Given the description of an element on the screen output the (x, y) to click on. 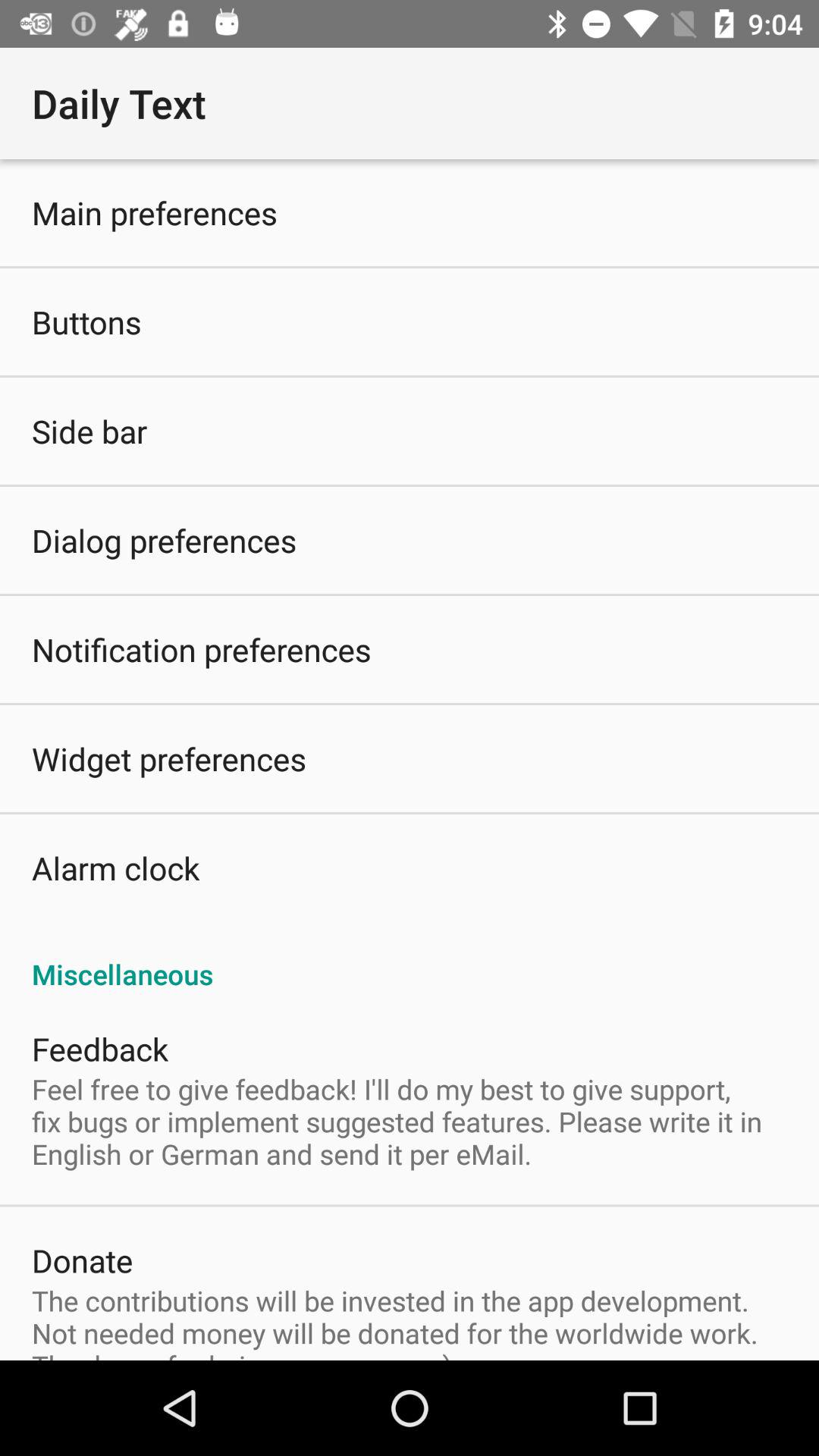
turn off the icon below buttons item (89, 430)
